Given the description of an element on the screen output the (x, y) to click on. 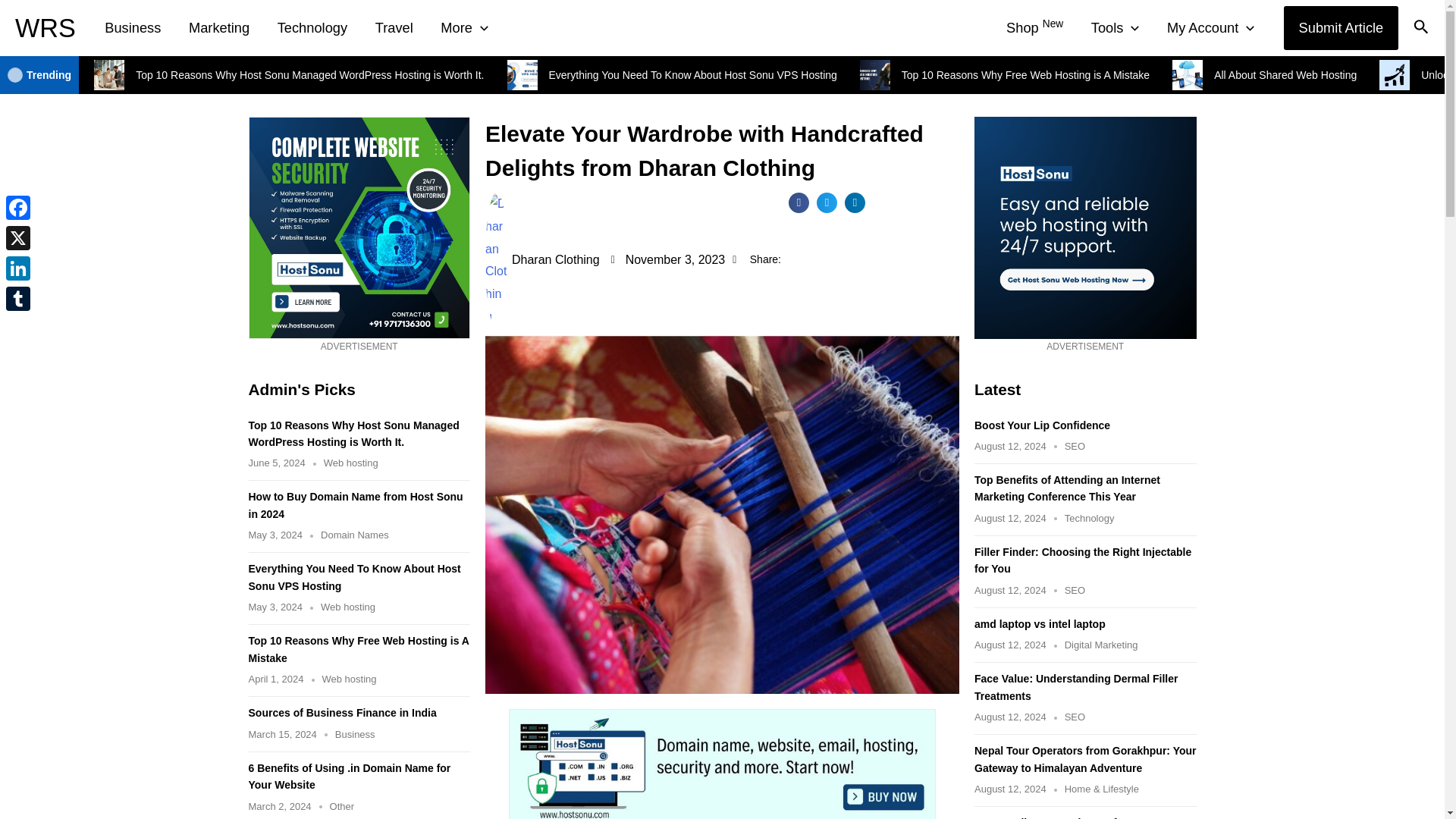
amd laptop vs intel laptop (1039, 623)
Face Value: Understanding Dermal Filler Treatments (1075, 686)
6 Benefits of Using .in Domain Name for Your Website (349, 776)
Sources of Business Finance in India (342, 712)
Shop New (1034, 27)
Top 10 Reasons Why Free Web Hosting is A Mistake (358, 648)
WRS (44, 27)
Boost Your Lip Confidence (1041, 425)
My Account (1210, 27)
